Given the description of an element on the screen output the (x, y) to click on. 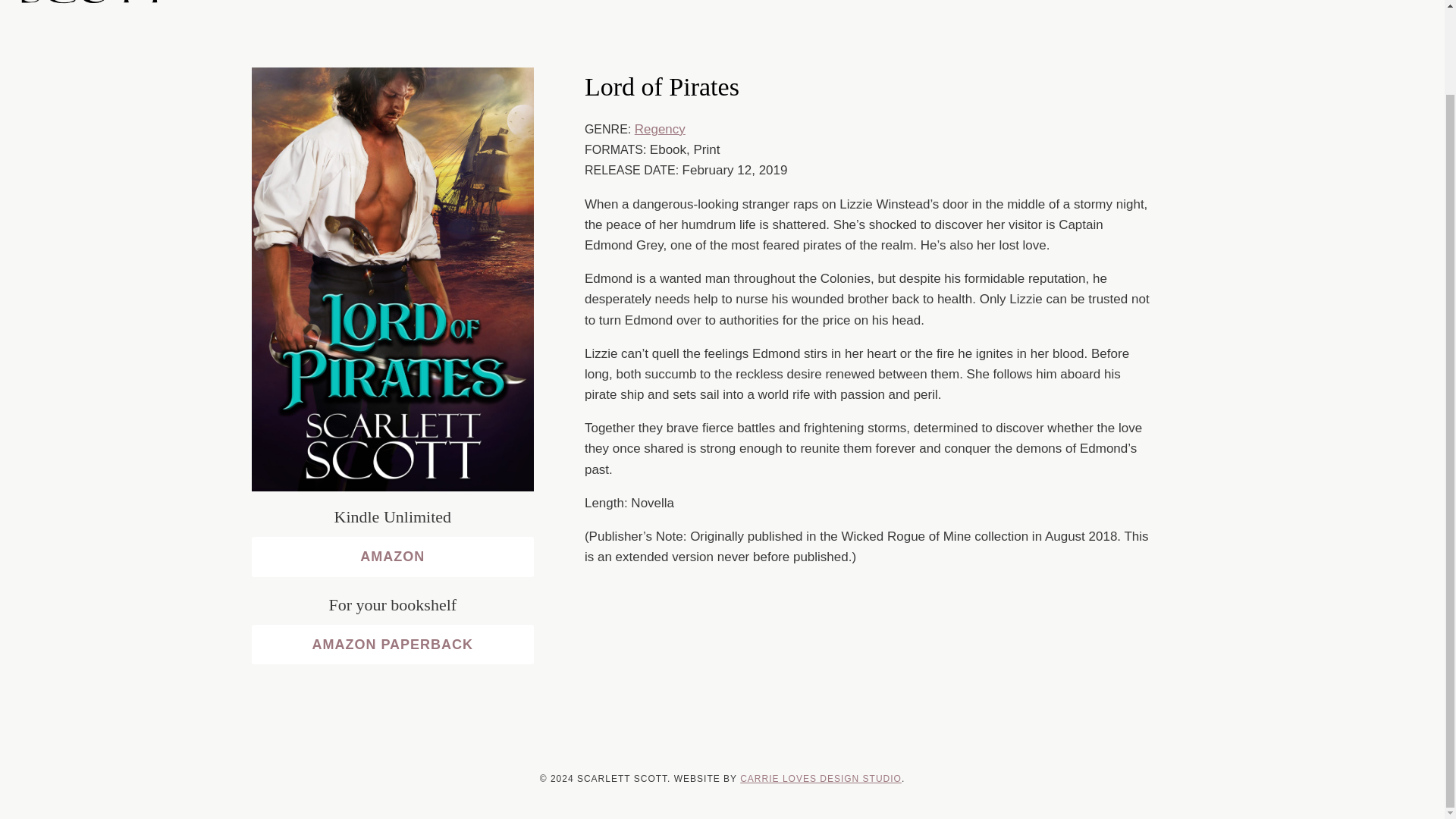
AMAZON PAPERBACK (392, 644)
AMAZON (392, 557)
Regency (659, 129)
CARRIE LOVES DESIGN STUDIO (820, 778)
